Given the description of an element on the screen output the (x, y) to click on. 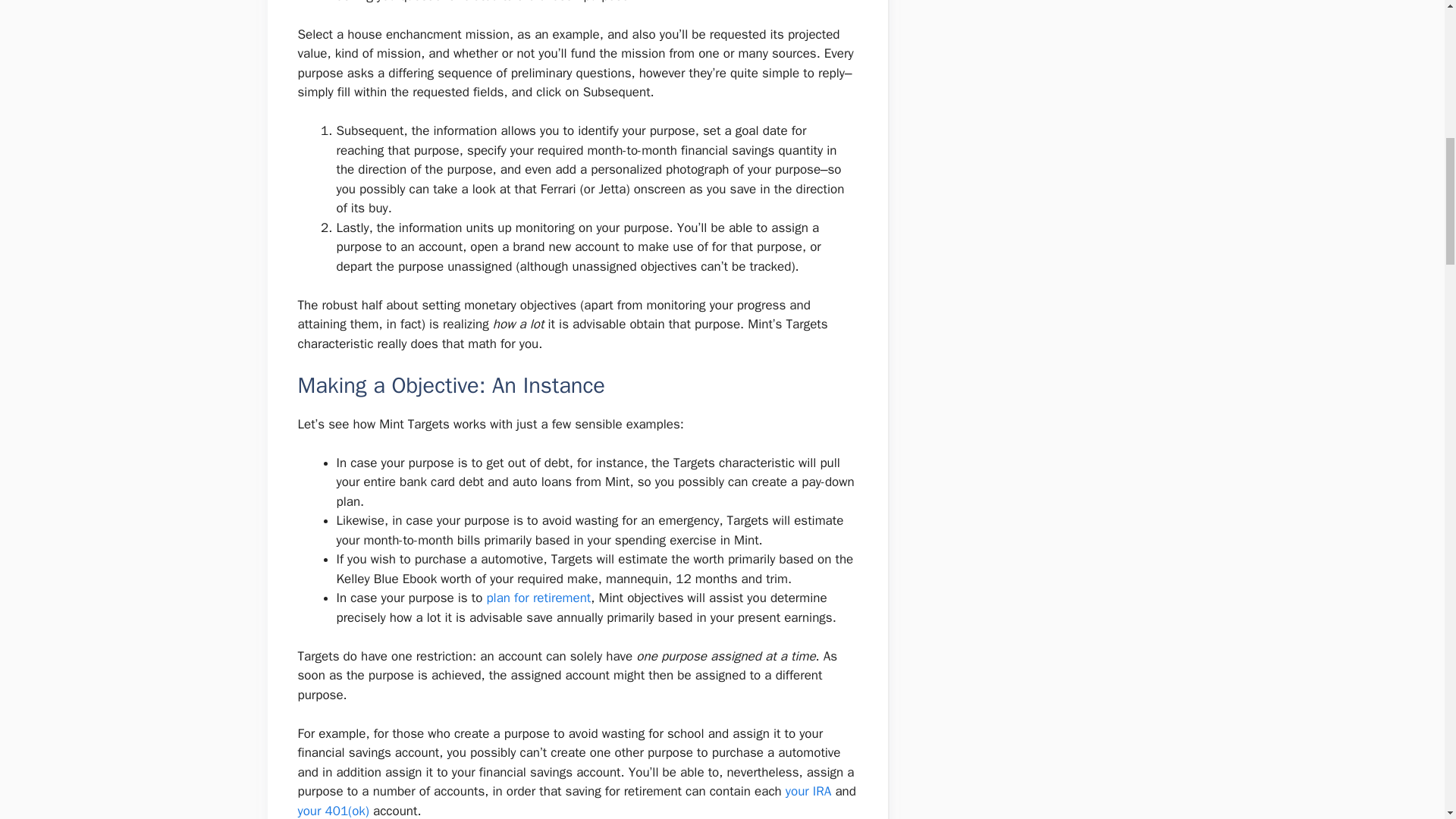
plan for retirement (538, 597)
your IRA (808, 790)
